Given the description of an element on the screen output the (x, y) to click on. 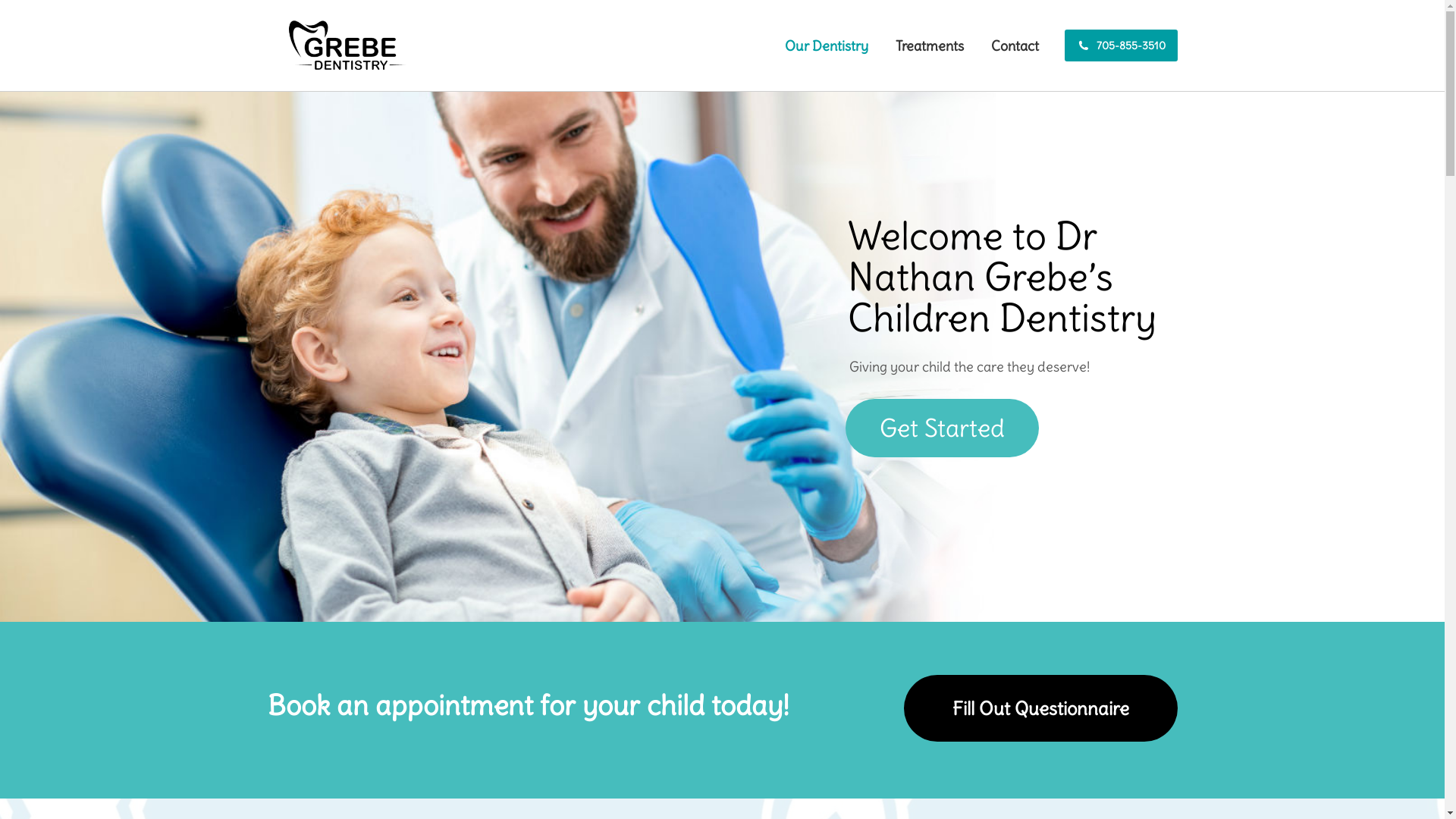
Treatments Element type: text (928, 45)
Contact Element type: text (1013, 45)
Fill Out Questionnaire Element type: text (1040, 707)
Our Dentistry Element type: text (825, 45)
705-855-3510 Element type: text (1120, 45)
